Given the description of an element on the screen output the (x, y) to click on. 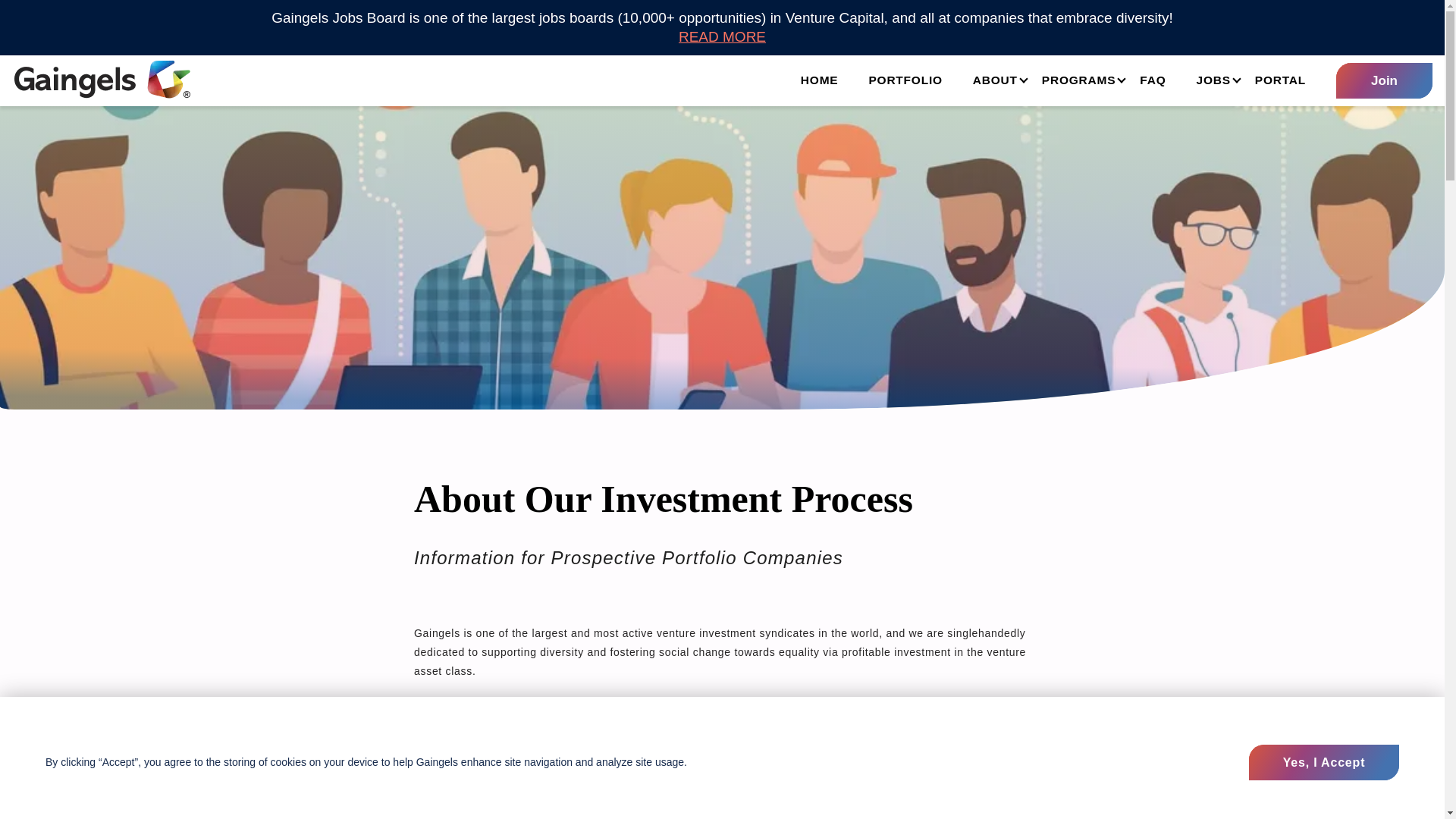
Join (1384, 80)
FAQ (1153, 79)
HOME (819, 79)
Yes, I Accept (1323, 762)
PORTAL (1280, 79)
READ MORE (721, 36)
PORTFOLIO (904, 79)
